Given the description of an element on the screen output the (x, y) to click on. 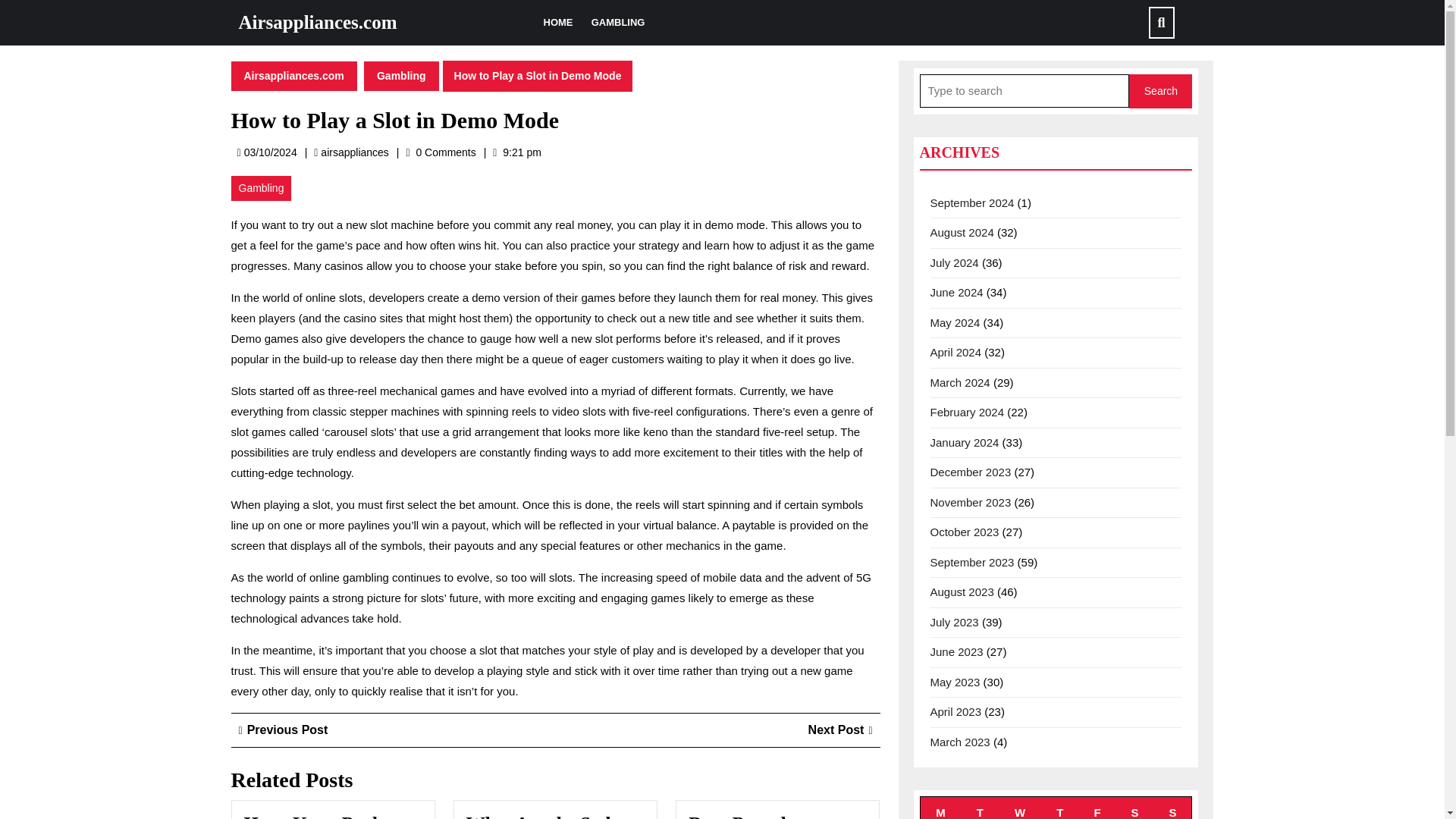
June 2024 (956, 291)
November 2023 (970, 502)
May 2023 (954, 680)
September 2024 (971, 201)
April 2024 (955, 351)
June 2023 (956, 651)
Friday (282, 729)
Hong Kong Pools (1097, 807)
Sunday (314, 816)
